Given the description of an element on the screen output the (x, y) to click on. 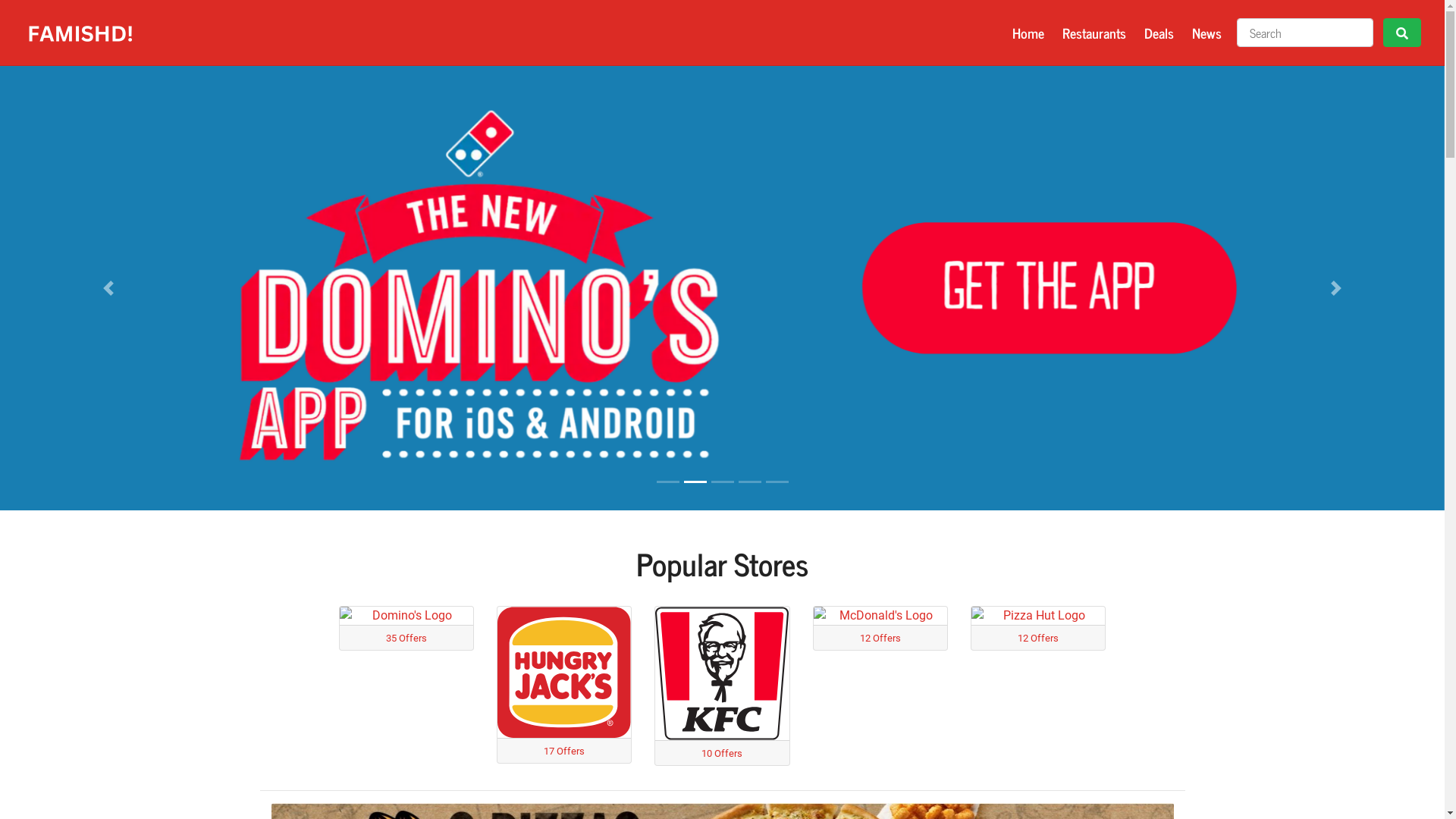
Previous Element type: text (108, 287)
17 Offers Element type: text (563, 684)
12 Offers Element type: text (879, 627)
35 Offers Element type: text (405, 627)
12 Offers Element type: text (1037, 627)
Deals Element type: text (1158, 32)
Next Element type: text (1335, 287)
10 Offers Element type: text (721, 685)
Restaurants Element type: text (1094, 32)
Home Element type: text (1028, 32)
News Element type: text (1206, 32)
